Given the description of an element on the screen output the (x, y) to click on. 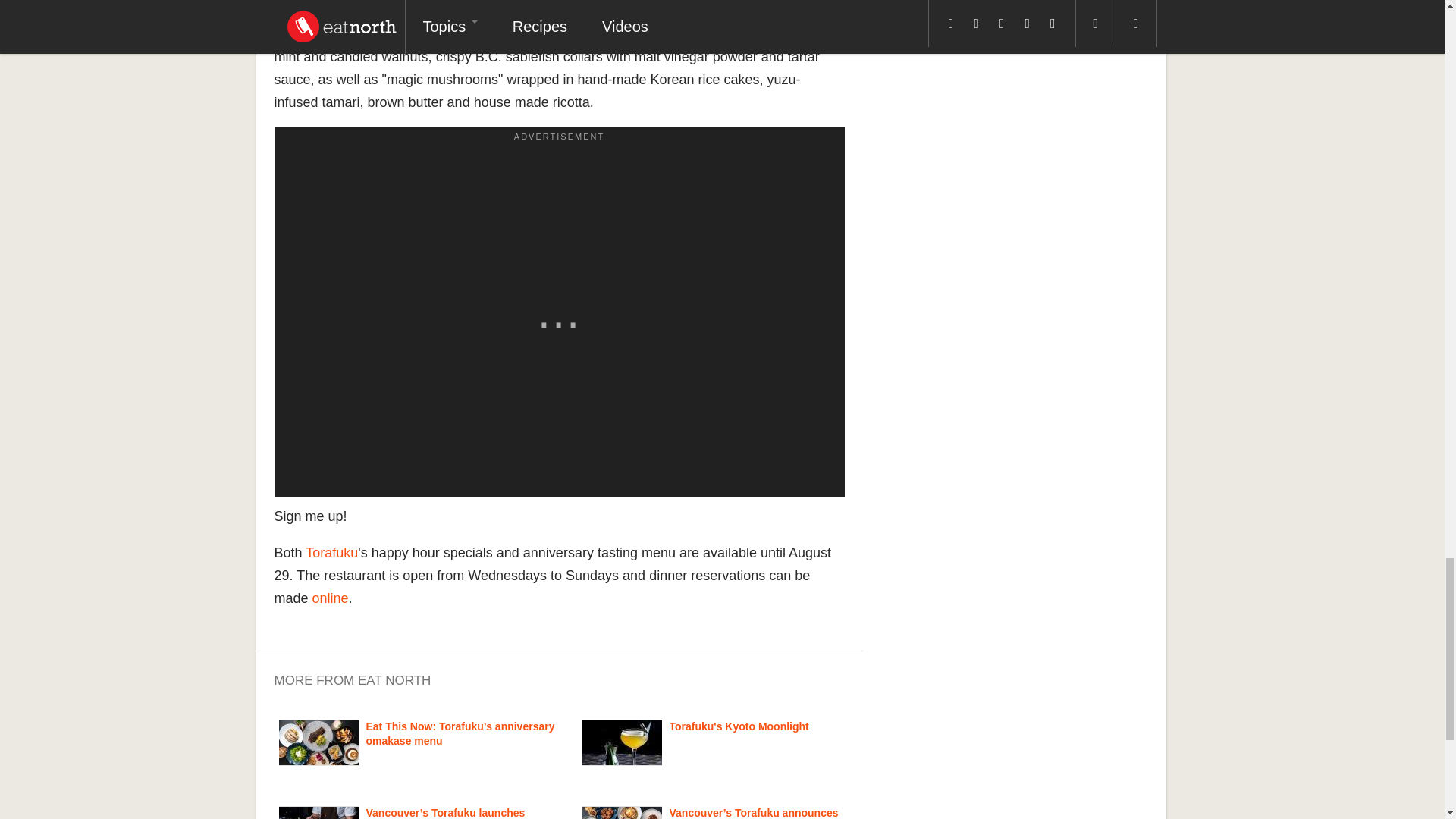
Photo by Leila Kwok (318, 812)
Torafuku (331, 552)
online (331, 598)
Torafuku's Kyoto Moonlight (738, 726)
Photos by Leila Kwok (318, 742)
